Given the description of an element on the screen output the (x, y) to click on. 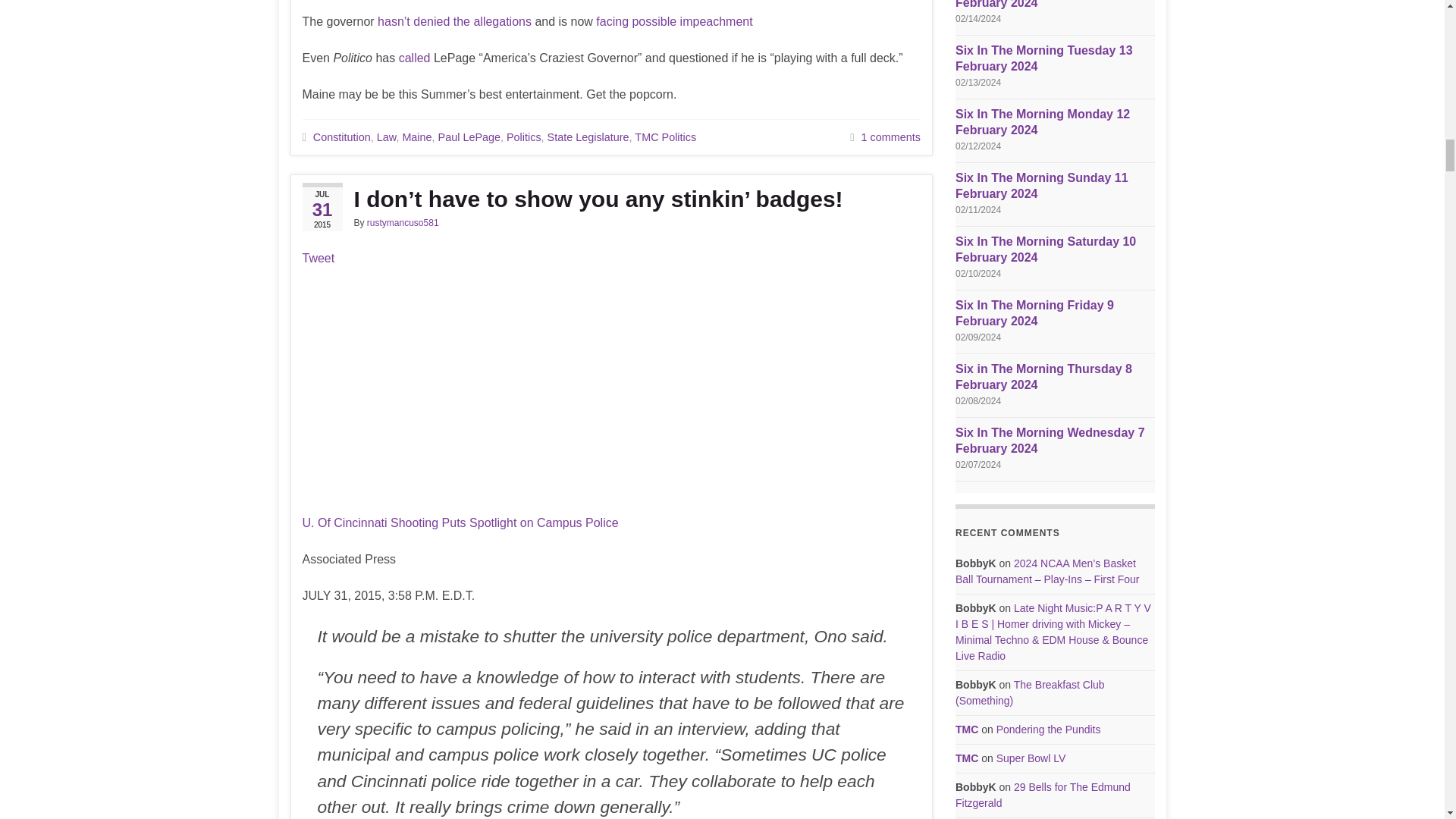
rustymancuso581 (402, 222)
facing possible impeachment (673, 21)
Paul LePage (469, 137)
Tweet (317, 257)
1 comments (890, 137)
Maine (415, 137)
Politics (523, 137)
called (414, 57)
U. Of Cincinnati Shooting Puts Spotlight on Campus Police (459, 522)
TMC Politics (664, 137)
Law (386, 137)
State Legislature (587, 137)
Constitution (342, 137)
